Given the description of an element on the screen output the (x, y) to click on. 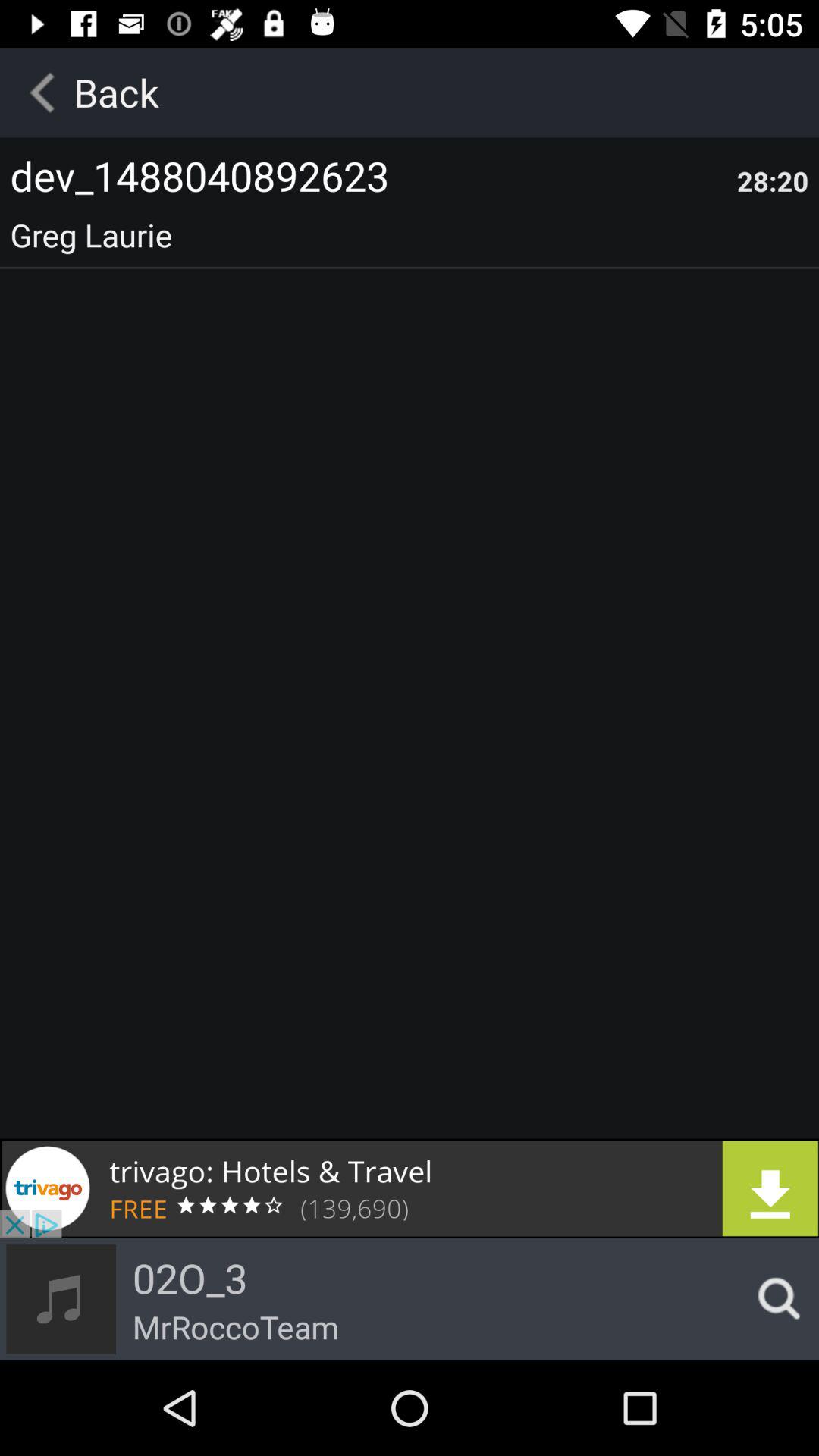
click to search icon (773, 1298)
